Given the description of an element on the screen output the (x, y) to click on. 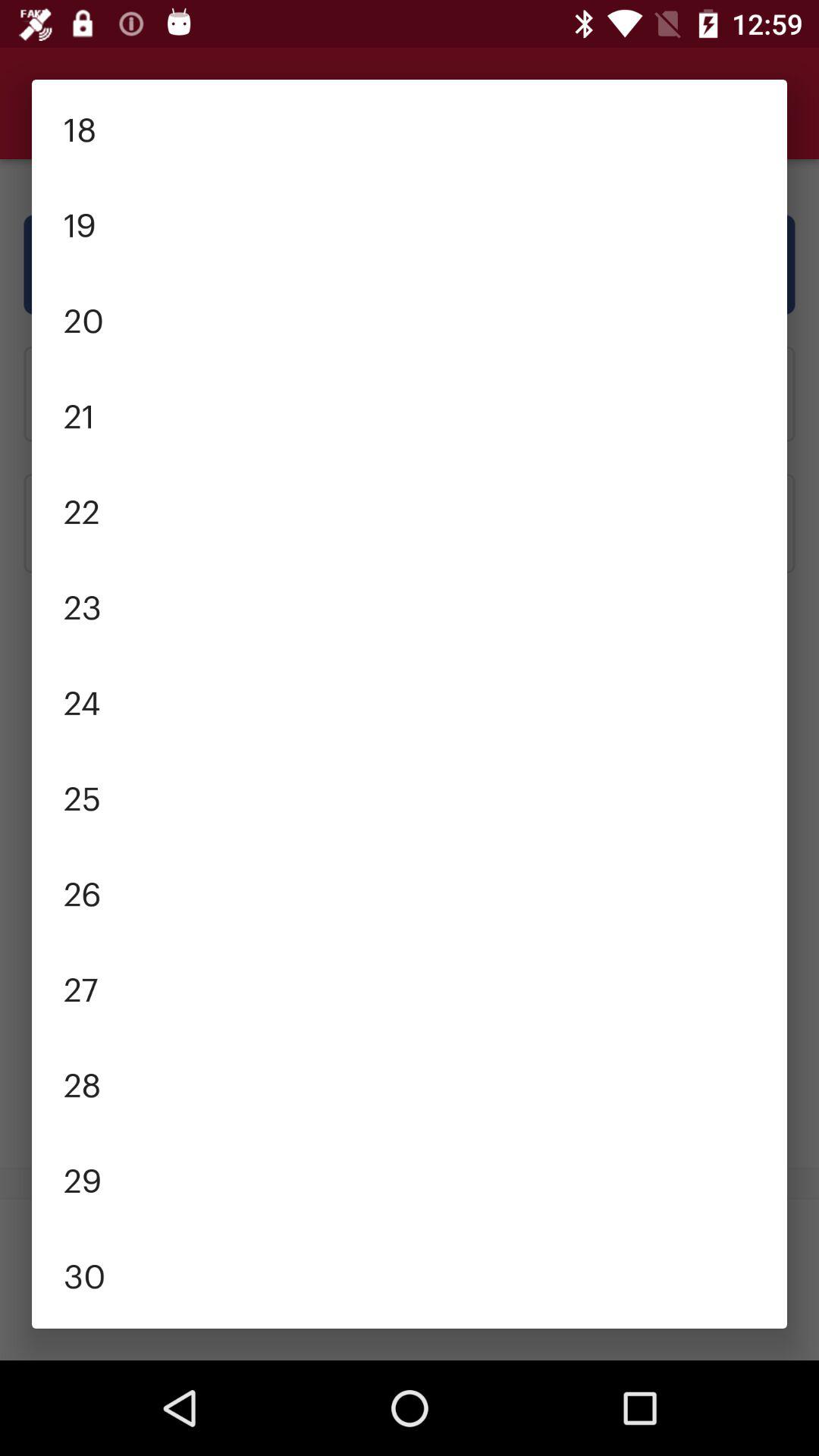
launch the icon below 23 item (409, 700)
